Given the description of an element on the screen output the (x, y) to click on. 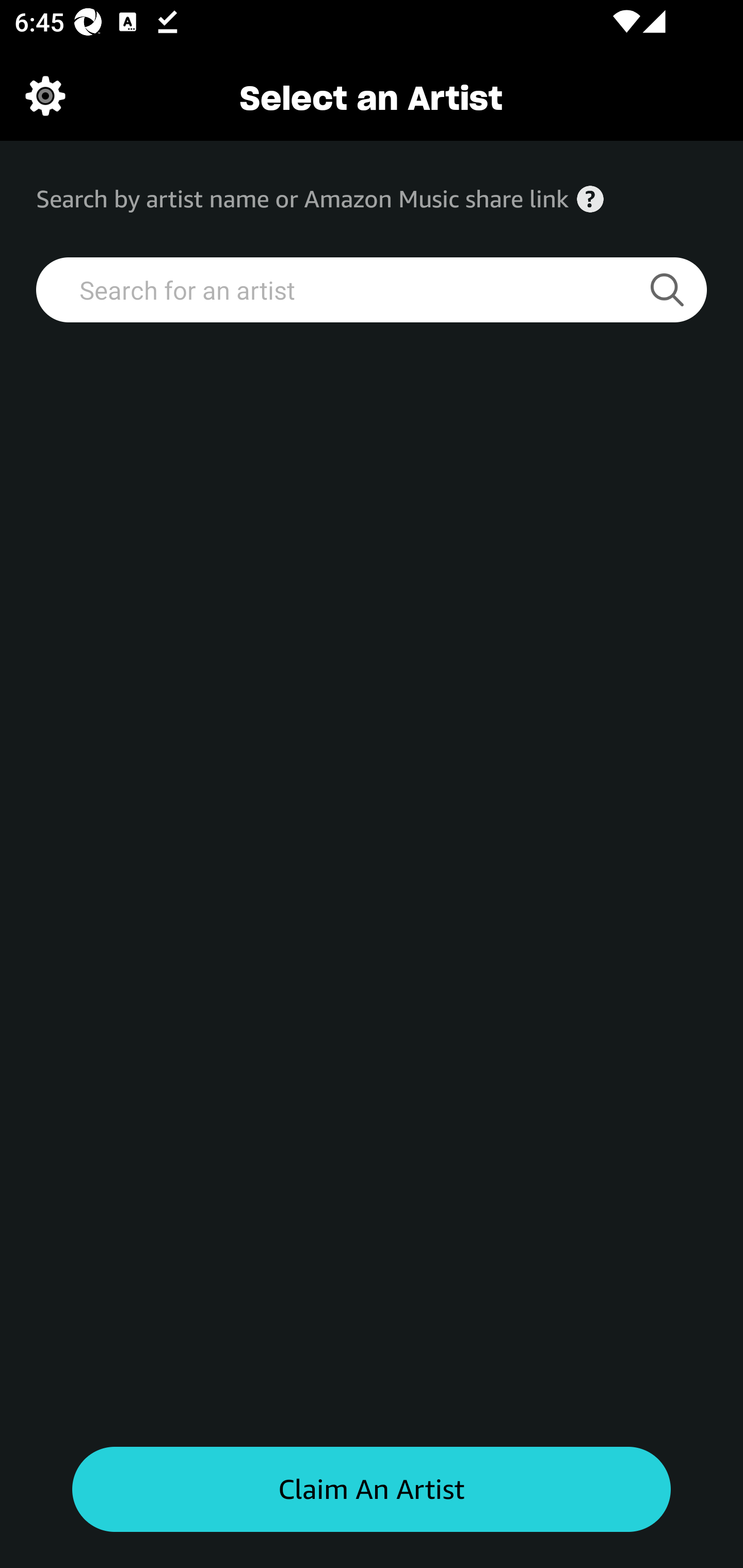
Help  icon (589, 199)
Claim an artist button Claim An Artist (371, 1489)
